Given the description of an element on the screen output the (x, y) to click on. 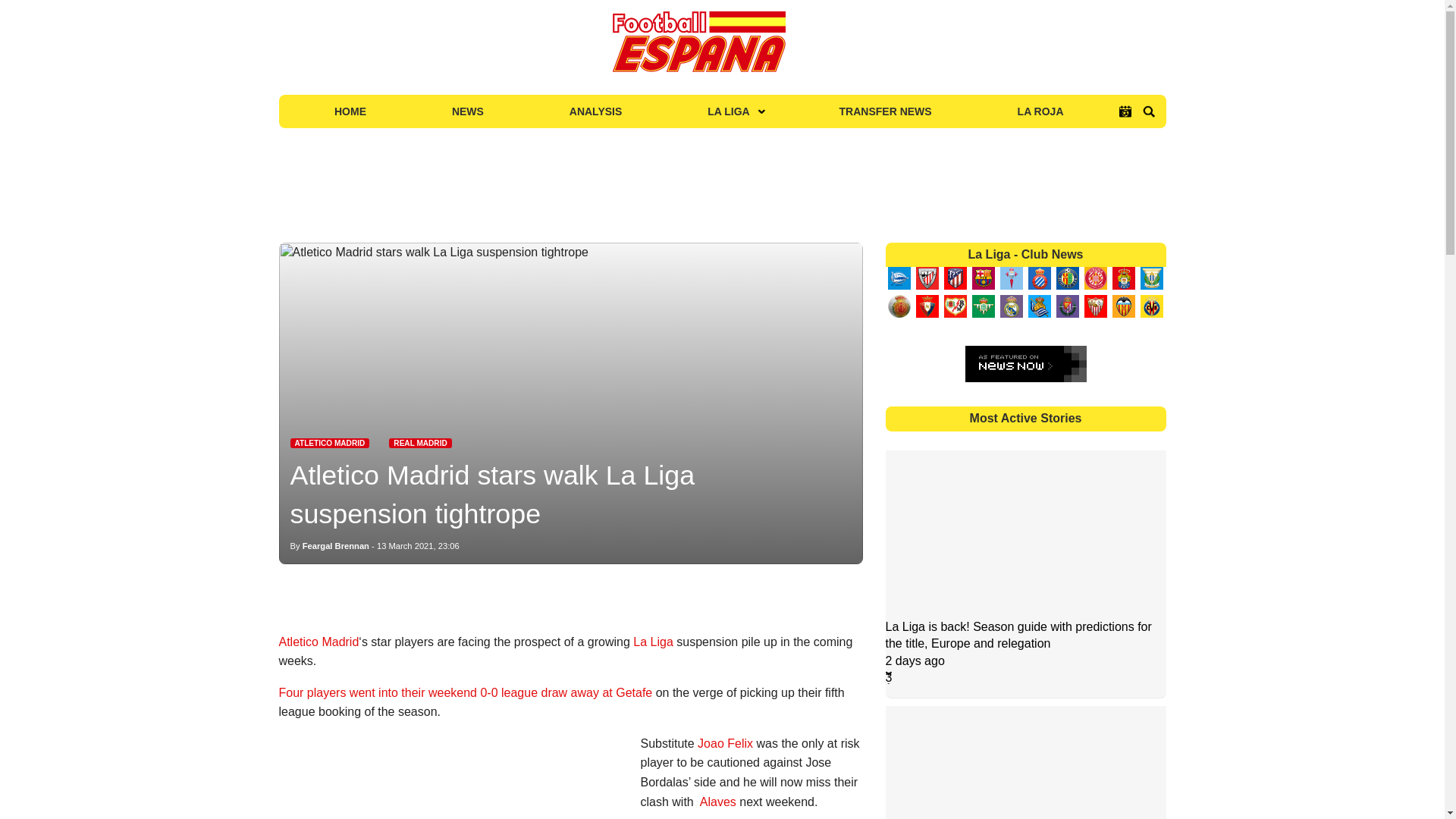
La Liga Fixtures (1125, 111)
NEWS (468, 111)
ANALYSIS (595, 111)
LA LIGA (729, 111)
HOME (350, 111)
Latest Atletico Madrid News (329, 442)
TRANSFER NEWS (885, 111)
LA ROJA (1040, 111)
Search (1147, 111)
Latest Real Madrid News (419, 442)
